Given the description of an element on the screen output the (x, y) to click on. 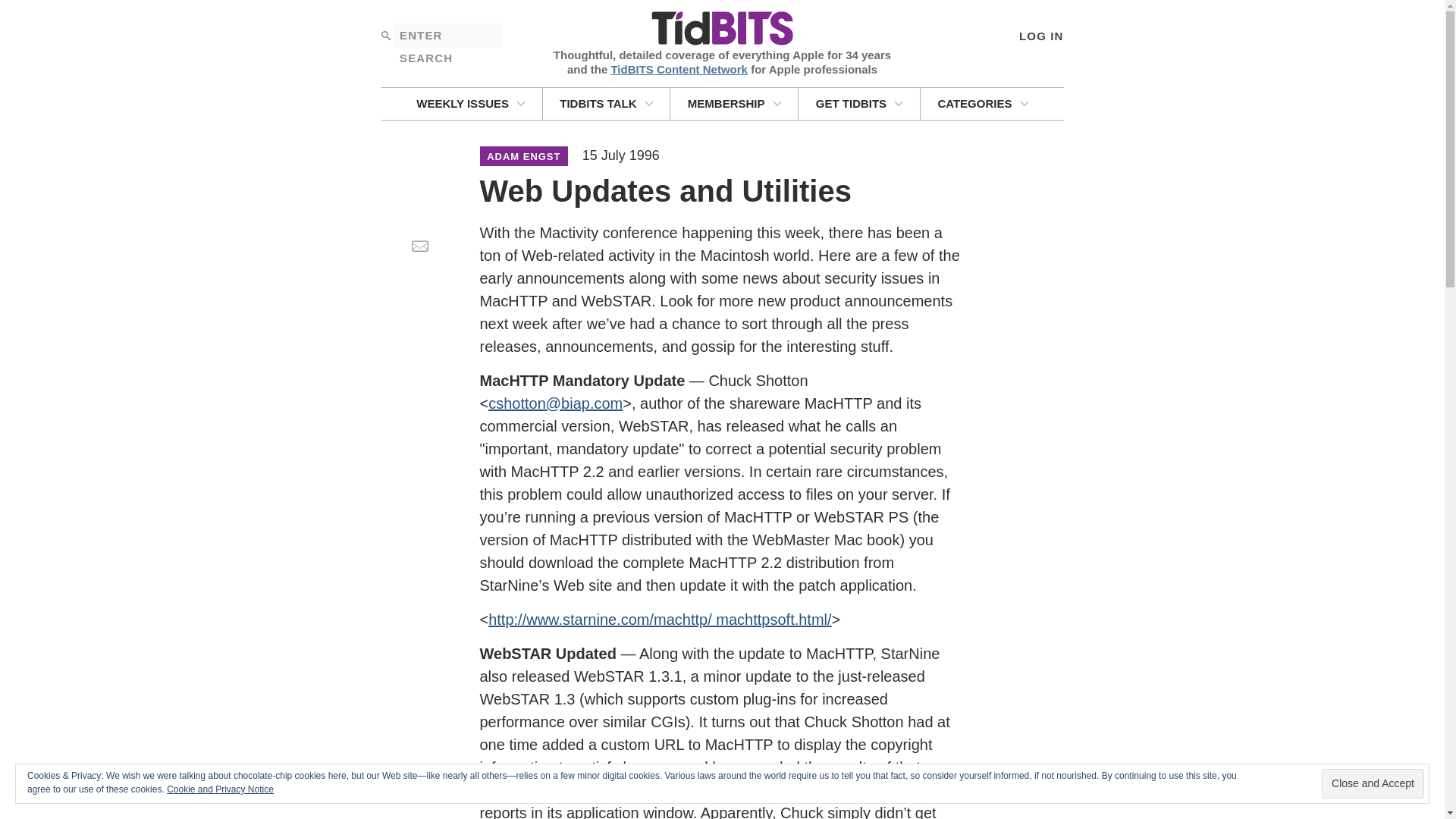
TidBITS (721, 28)
Click to email a link to a friend (419, 246)
CATEGORIES (982, 103)
MEMBERSHIP (733, 103)
Close and Accept (1372, 783)
Search (385, 35)
TidBITS Content Network (679, 68)
LOG IN (1040, 34)
TIDBITS TALK (606, 103)
WEEKLY ISSUES (469, 103)
